Given the description of an element on the screen output the (x, y) to click on. 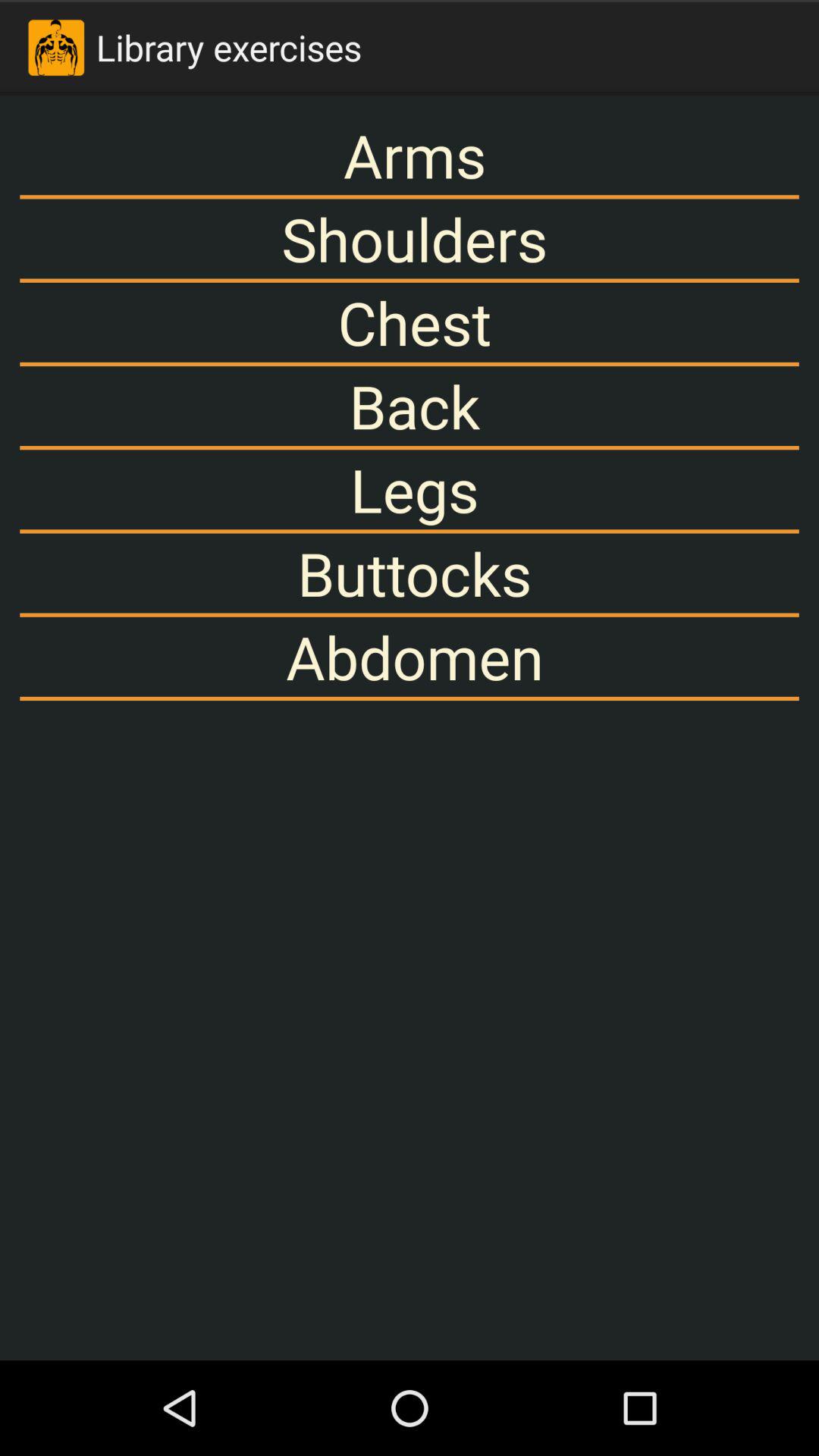
press the item above abdomen app (409, 573)
